Given the description of an element on the screen output the (x, y) to click on. 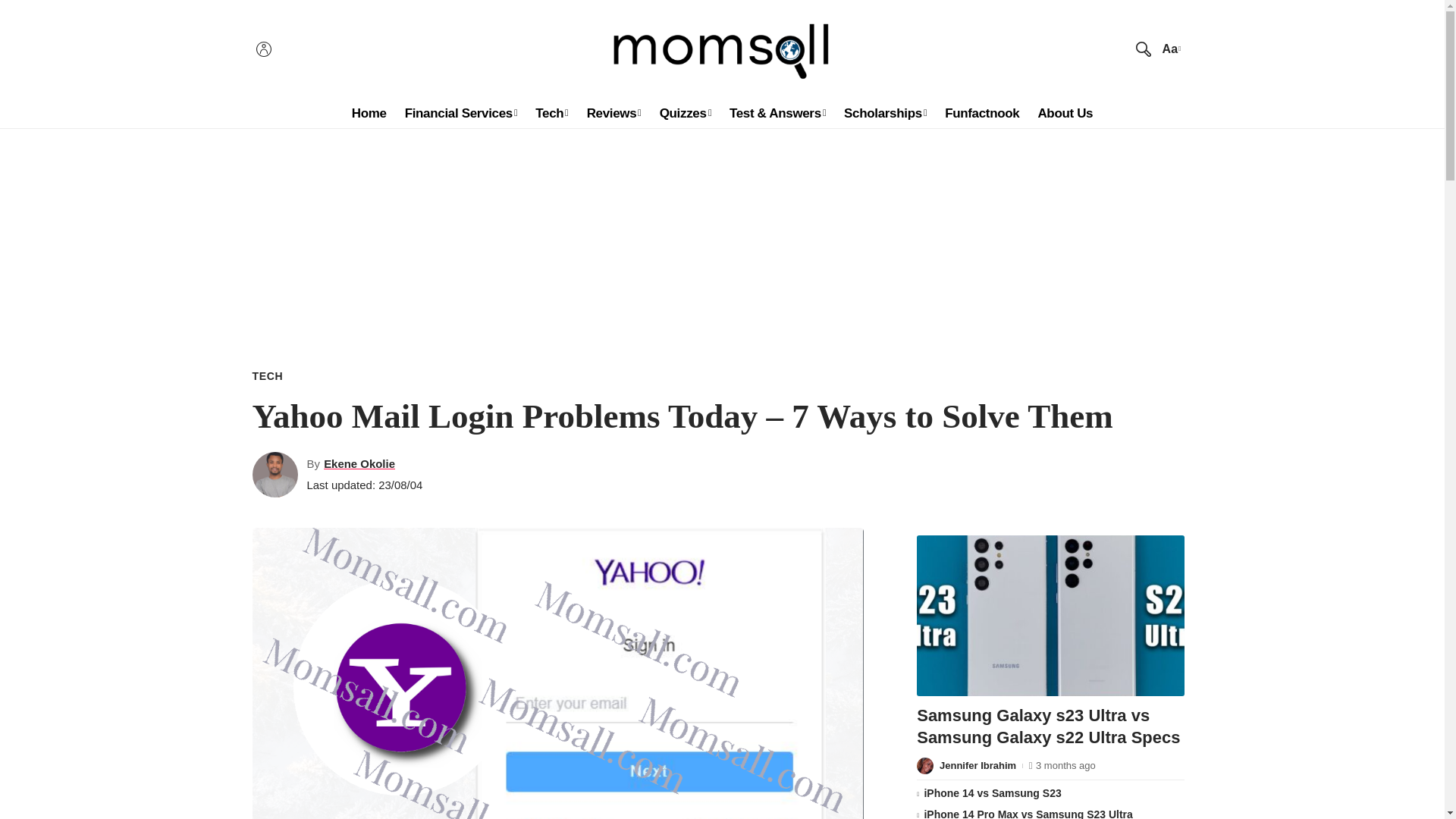
Home (369, 113)
Reviews (614, 113)
Momsall (721, 48)
Aa (1169, 48)
Financial Services (461, 113)
Tech (550, 113)
